Given the description of an element on the screen output the (x, y) to click on. 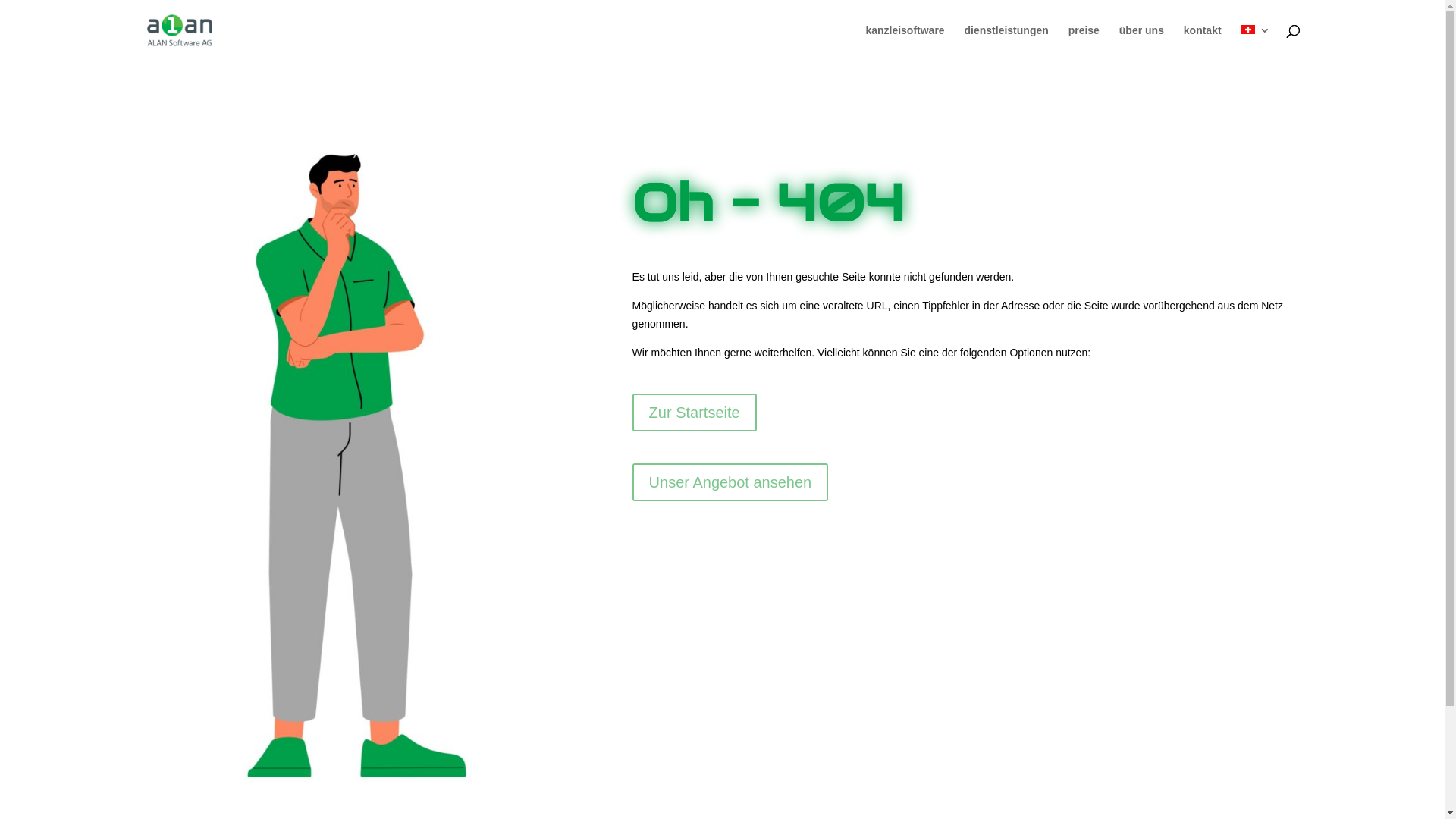
preise Element type: text (1083, 42)
dienstleistungen Element type: text (1006, 42)
Unser Angebot ansehen Element type: text (730, 482)
kanzleisoftware Element type: text (904, 42)
Zur Startseite Element type: text (694, 412)
404-Error Element type: hover (355, 465)
kontakt Element type: text (1202, 42)
